Given the description of an element on the screen output the (x, y) to click on. 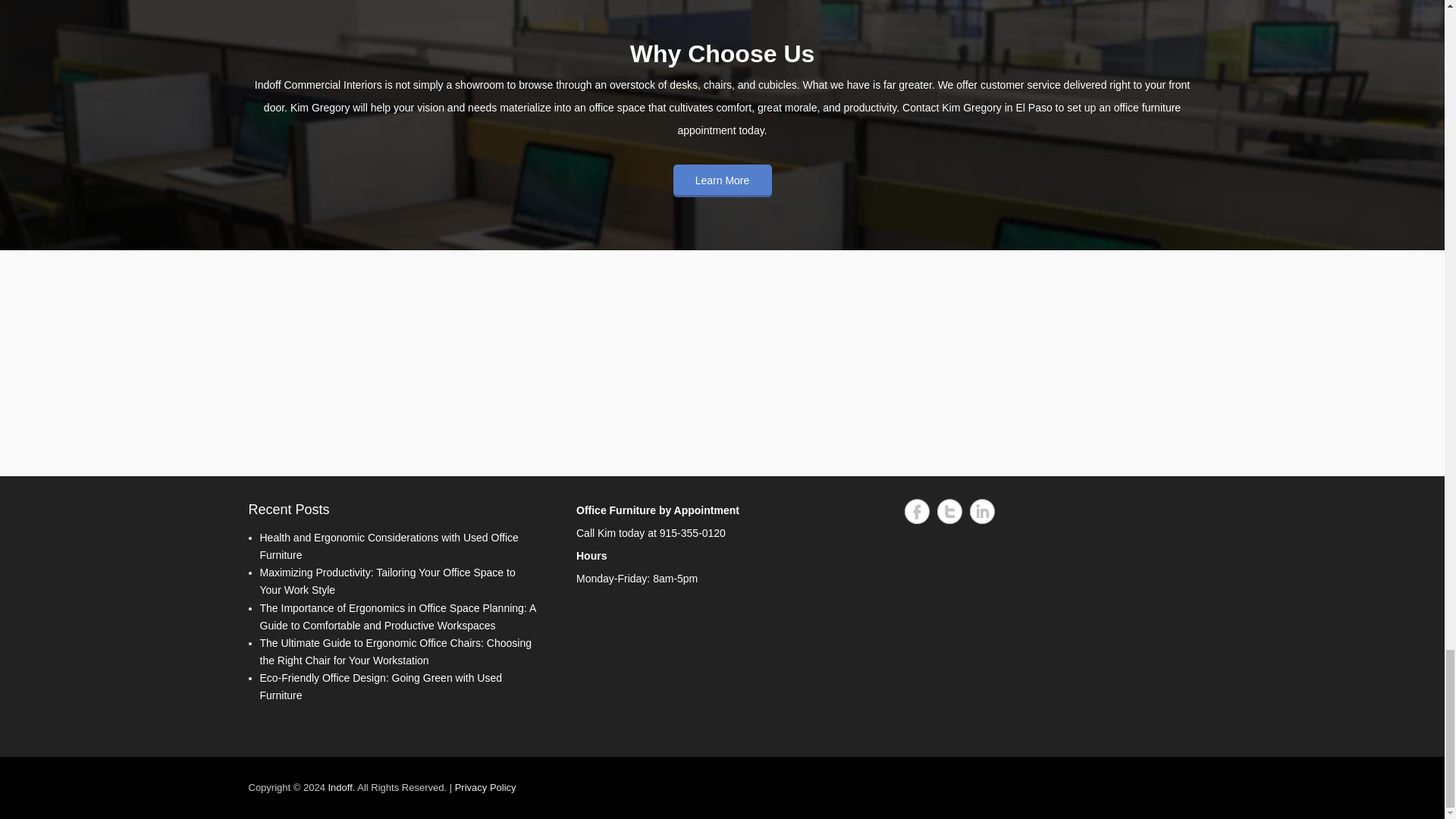
Twitter (949, 511)
Facebook (916, 511)
Indoff (339, 787)
LinkedIn (981, 511)
